Given the description of an element on the screen output the (x, y) to click on. 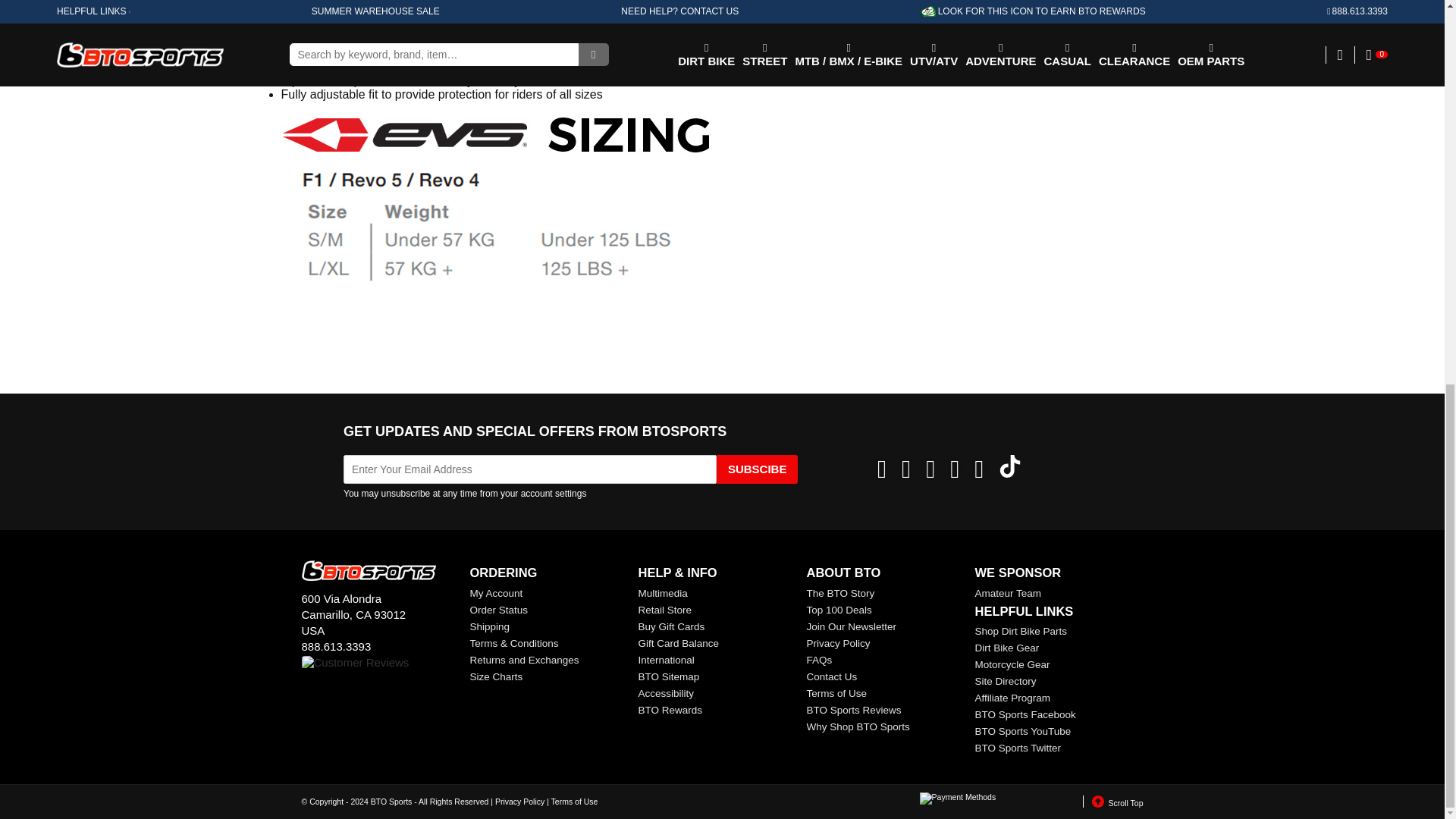
Scroll Top (1112, 801)
Order Status (499, 609)
